Given the description of an element on the screen output the (x, y) to click on. 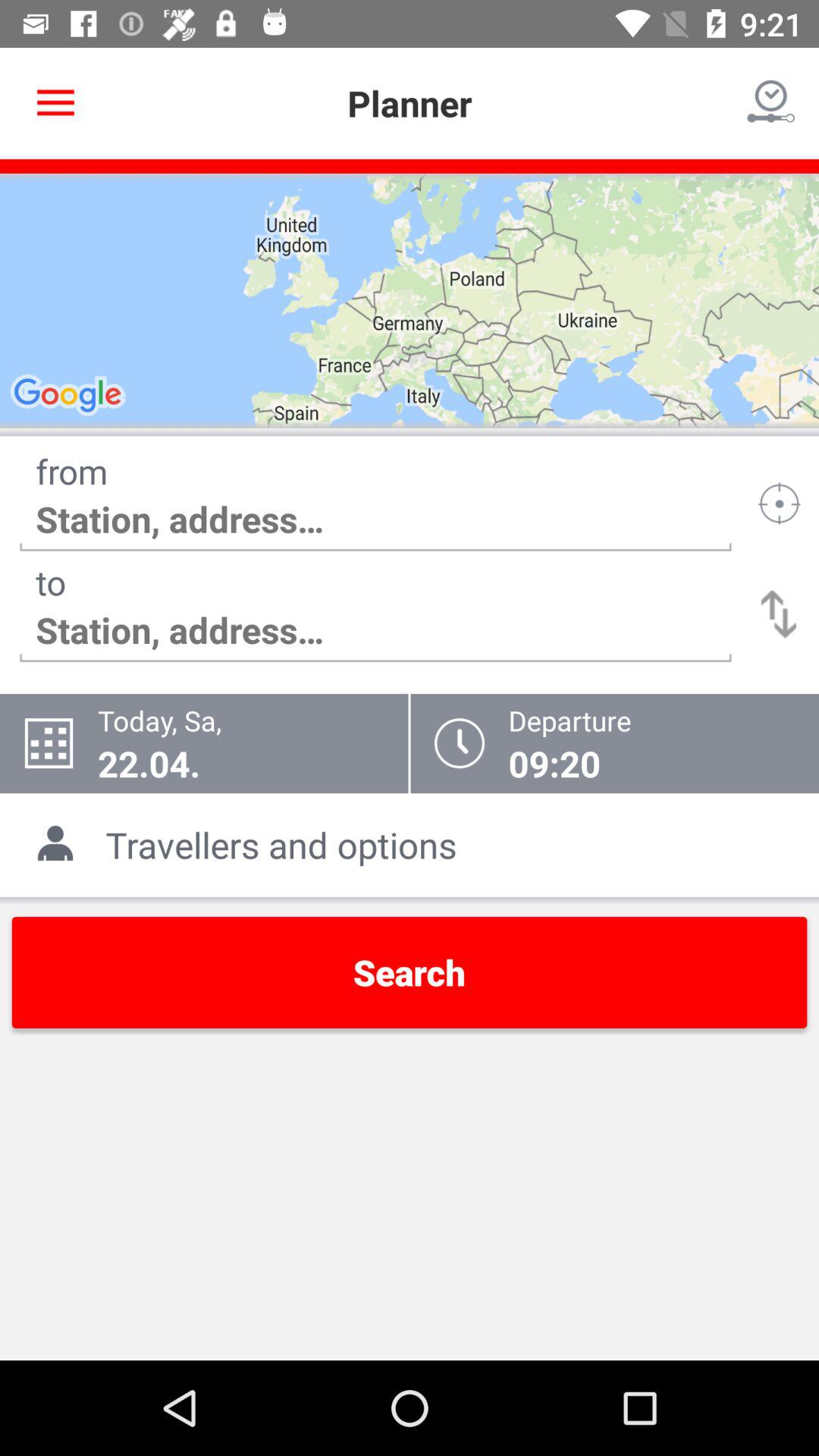
launch item to the right of the planner icon (771, 103)
